Given the description of an element on the screen output the (x, y) to click on. 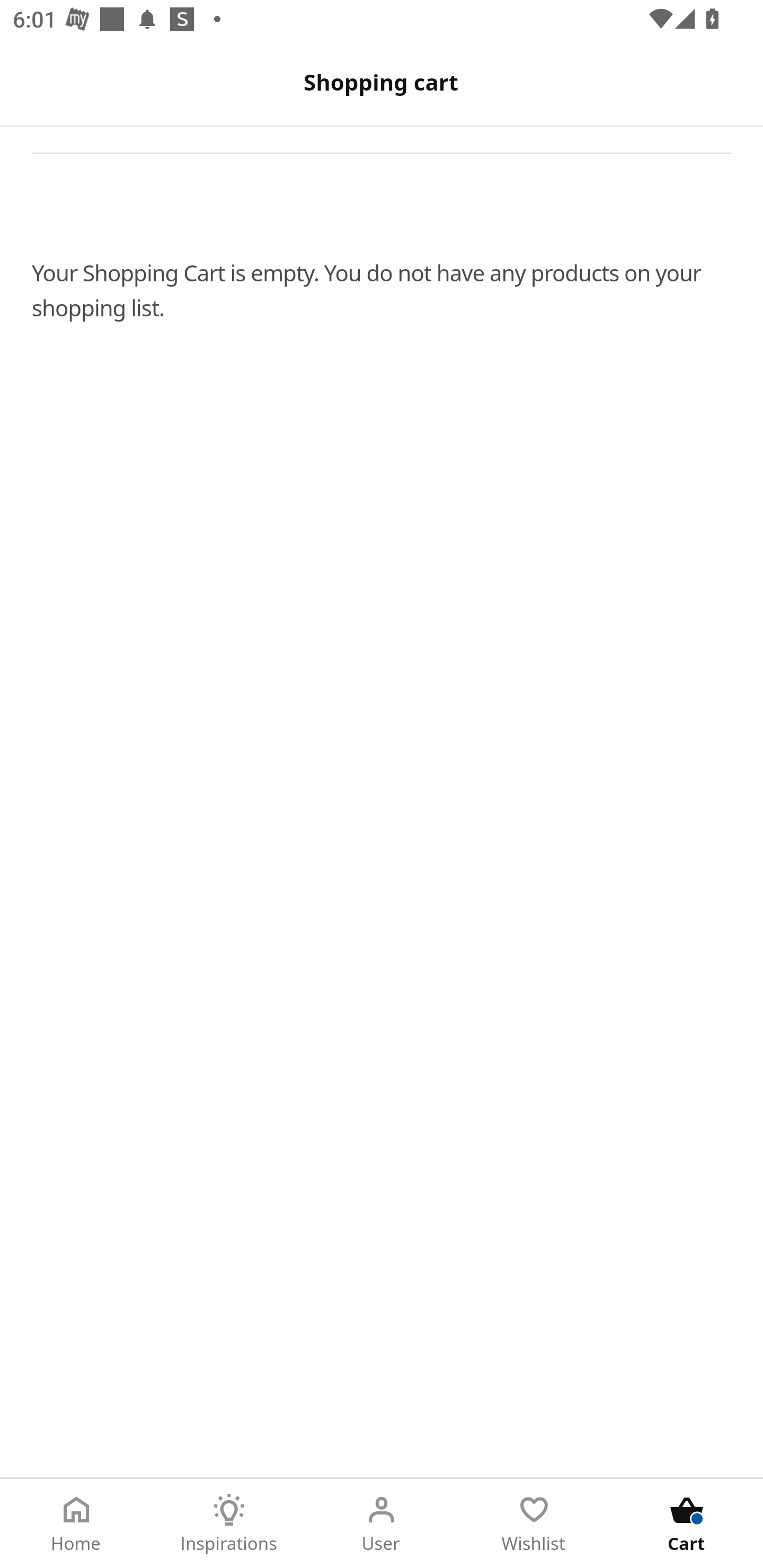
Home
Tab 1 of 5 (76, 1522)
Inspirations
Tab 2 of 5 (228, 1522)
User
Tab 3 of 5 (381, 1522)
Wishlist
Tab 4 of 5 (533, 1522)
Cart
Tab 5 of 5 (686, 1522)
